Given the description of an element on the screen output the (x, y) to click on. 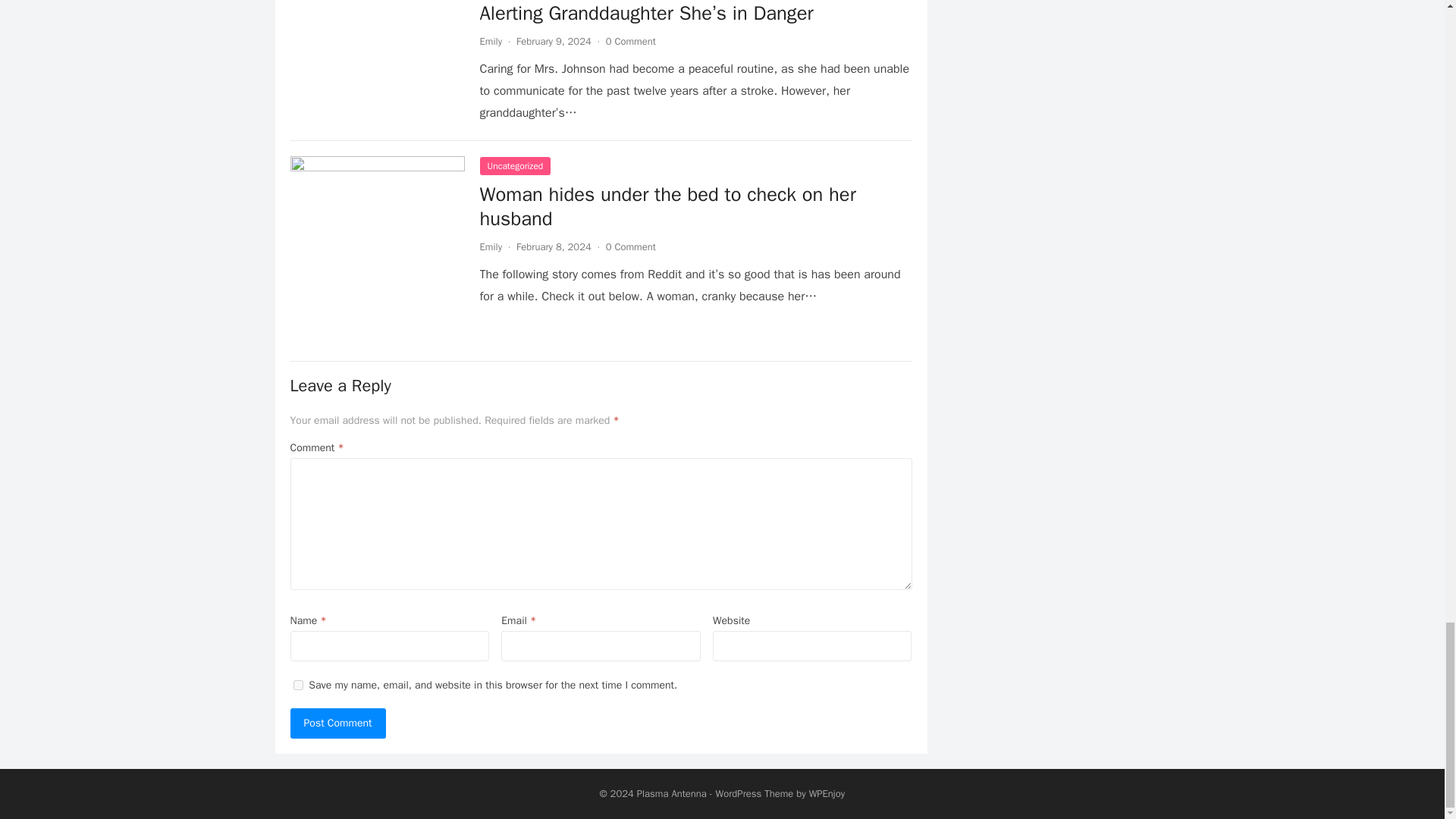
Uncategorized (514, 166)
Post Comment (337, 723)
Posts by Emily (490, 41)
yes (297, 685)
Posts by Emily (490, 246)
Emily (490, 41)
0 Comment (630, 41)
